Given the description of an element on the screen output the (x, y) to click on. 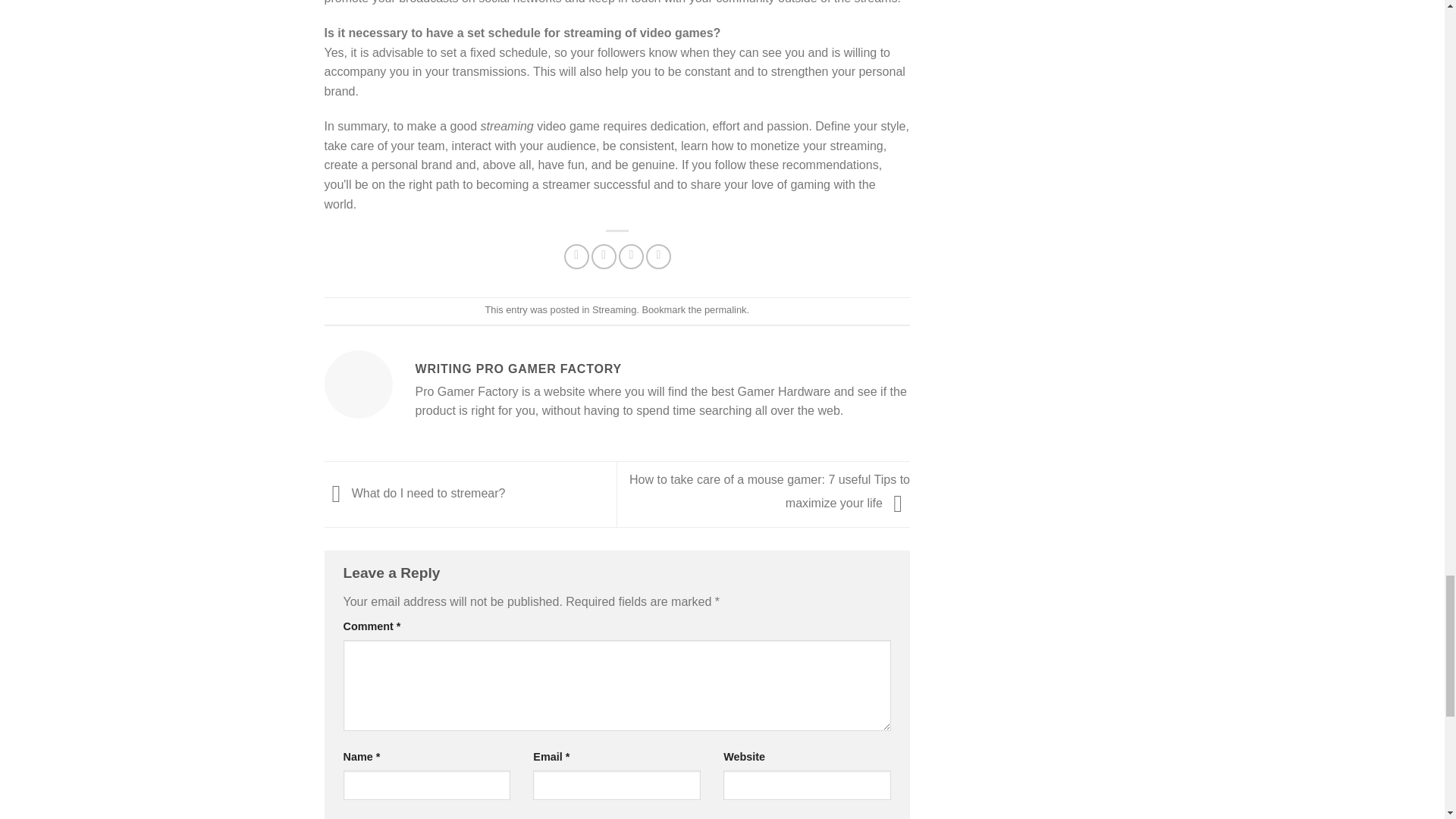
Share on Twitter (603, 256)
Share on Facebook (576, 256)
Share on Tumblr (658, 256)
Email to a Friend (630, 256)
